Given the description of an element on the screen output the (x, y) to click on. 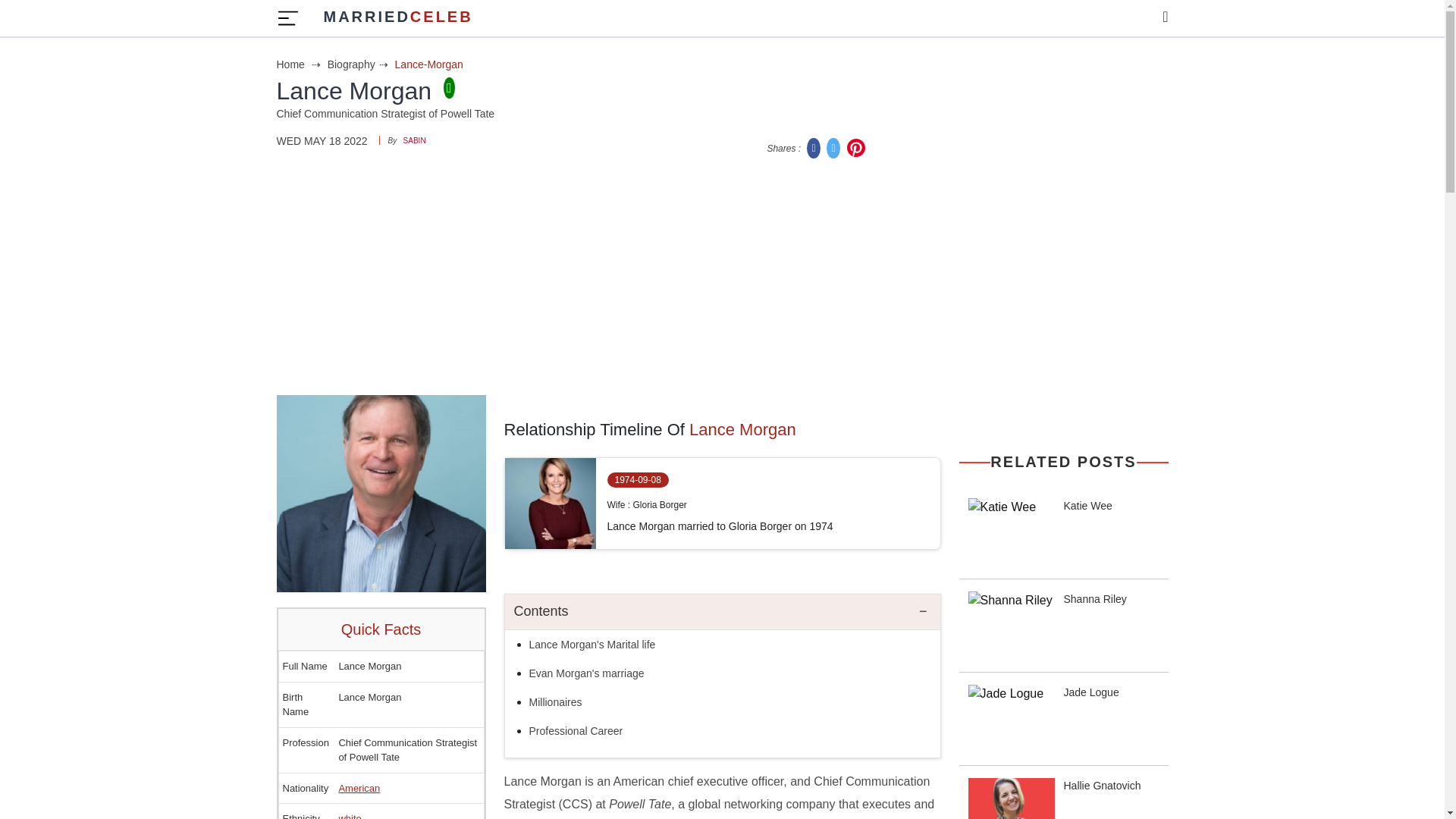
Lance Morgan's Marital life (592, 644)
SABIN (414, 140)
Millionaires (555, 702)
Evan Morgan's marriage (587, 673)
Biography (359, 64)
Twitter (835, 147)
Home (299, 64)
white (349, 816)
Pinterest (854, 147)
Professional Career (576, 730)
